Given the description of an element on the screen output the (x, y) to click on. 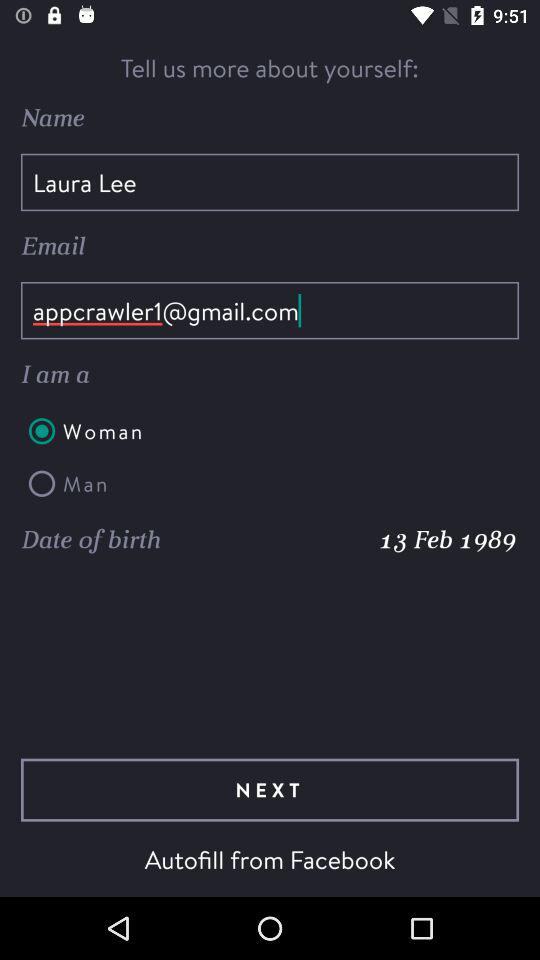
scroll to laura lee icon (269, 182)
